Given the description of an element on the screen output the (x, y) to click on. 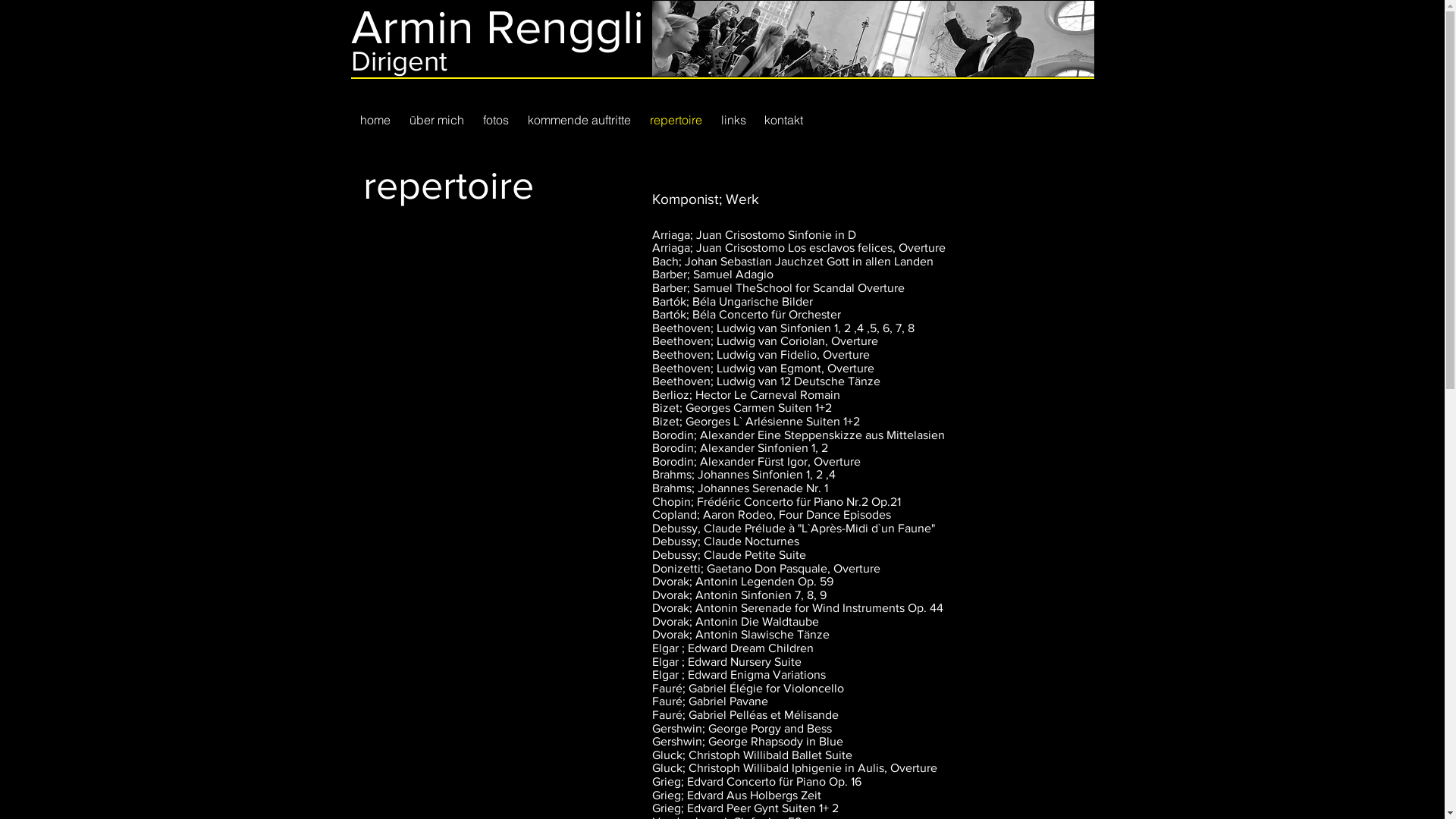
kontakt Element type: text (783, 119)
repertoire Element type: text (675, 119)
kommende auftritte Element type: text (579, 119)
fotos Element type: text (495, 119)
home Element type: text (374, 119)
links Element type: text (732, 119)
